Given the description of an element on the screen output the (x, y) to click on. 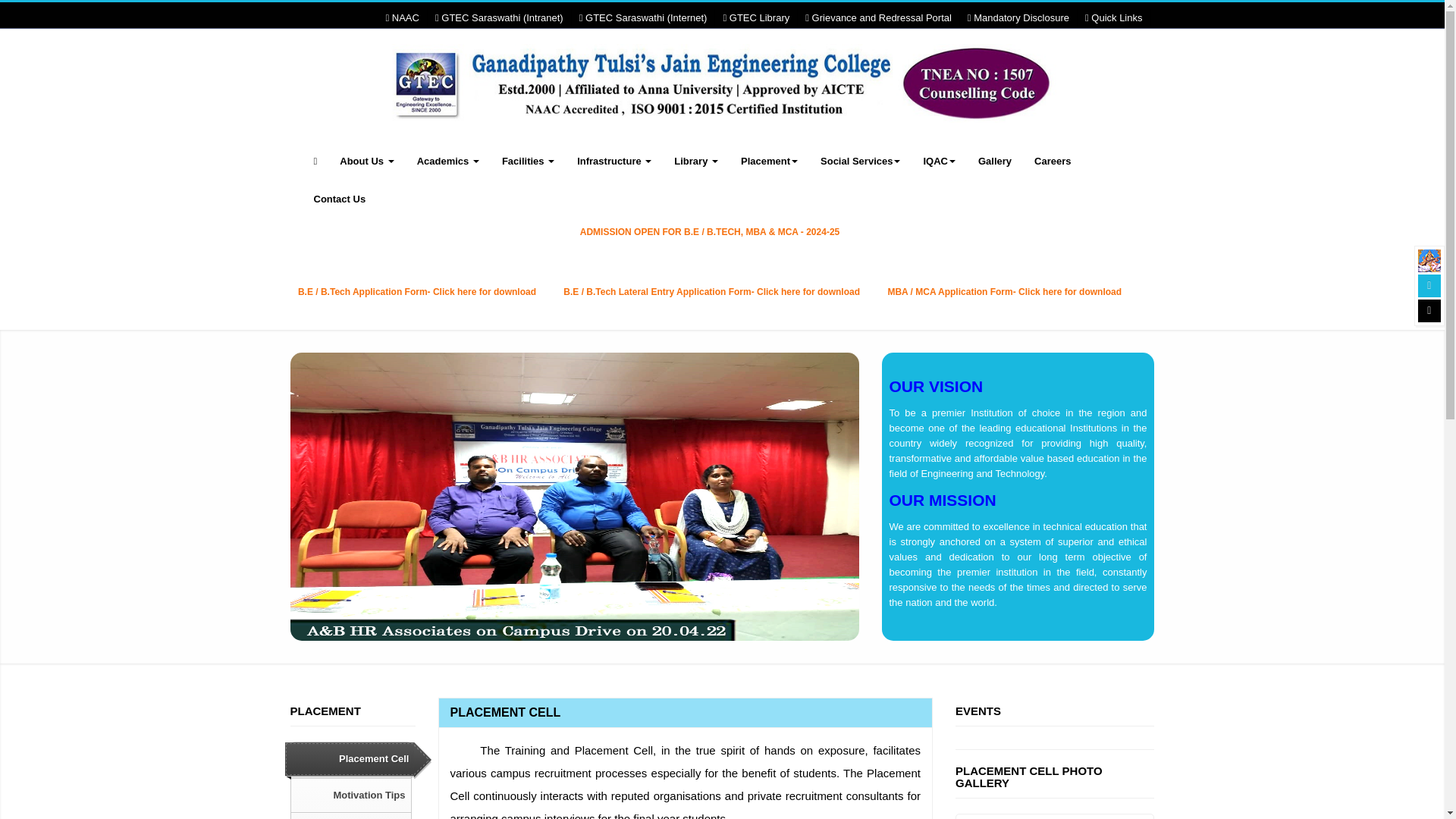
NAAC (402, 17)
Mandatory Disclosure (1018, 17)
Staff Login (1429, 285)
GTEC Saraswathi (1429, 260)
Login account (1429, 310)
Quick Links (1113, 17)
GTEC Library (755, 17)
Home (721, 96)
Academics (448, 161)
Grievance and Redressal Portal (878, 17)
About Us (366, 161)
